Given the description of an element on the screen output the (x, y) to click on. 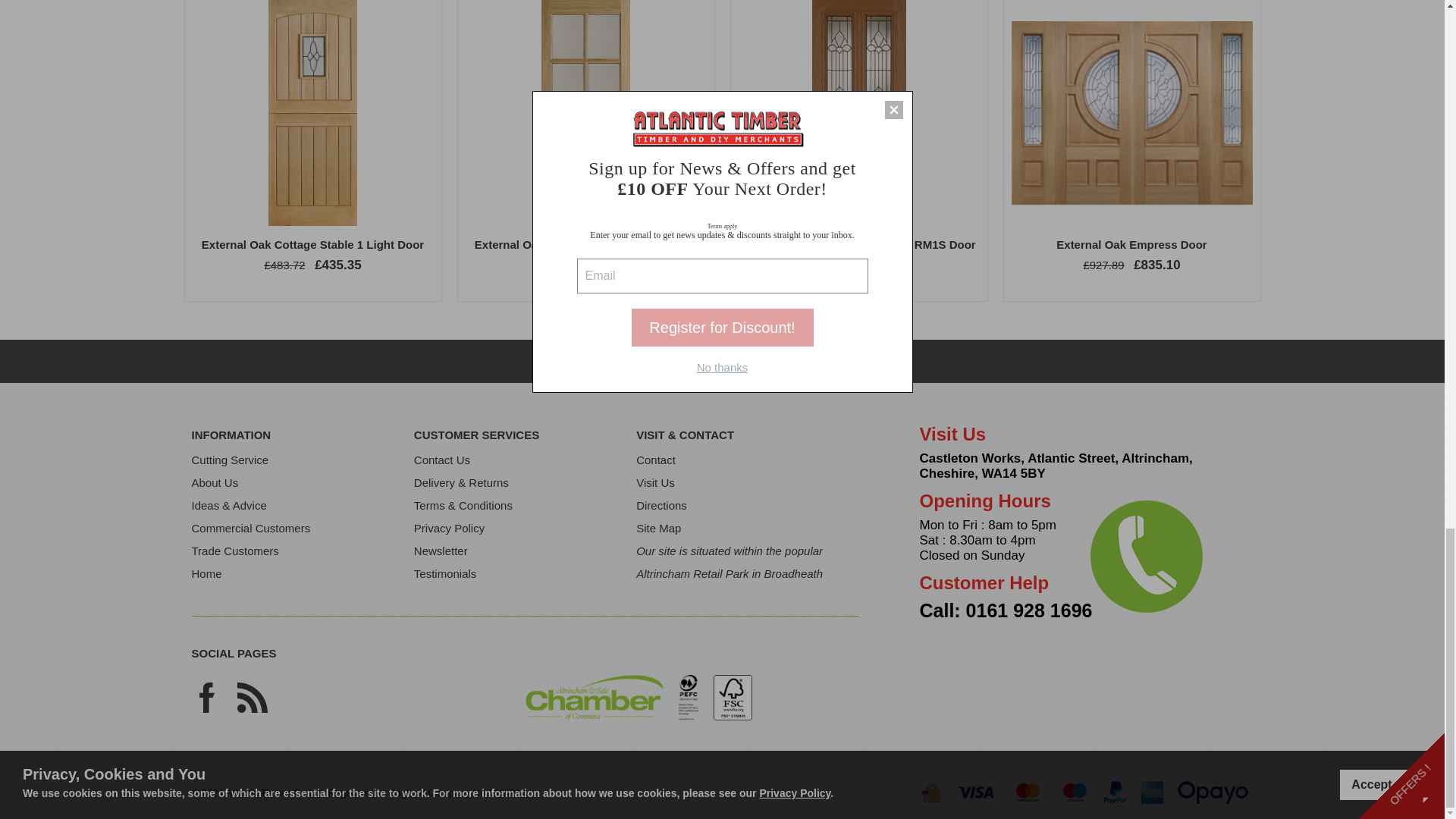
External Oak Empress Door (1132, 244)
External Oak Cottage Stable 1 Light Door (312, 244)
Privacy Policy (448, 527)
Commercial Customers (250, 527)
Trade Customers (234, 550)
Contact Us (441, 459)
Newsletter (440, 550)
External Oak Cottage Stable 4 Light Door (585, 244)
External Oak Derby Chameleon RM1S Door (858, 244)
Home (205, 573)
Cutting Service (228, 459)
About Us (214, 481)
